Given the description of an element on the screen output the (x, y) to click on. 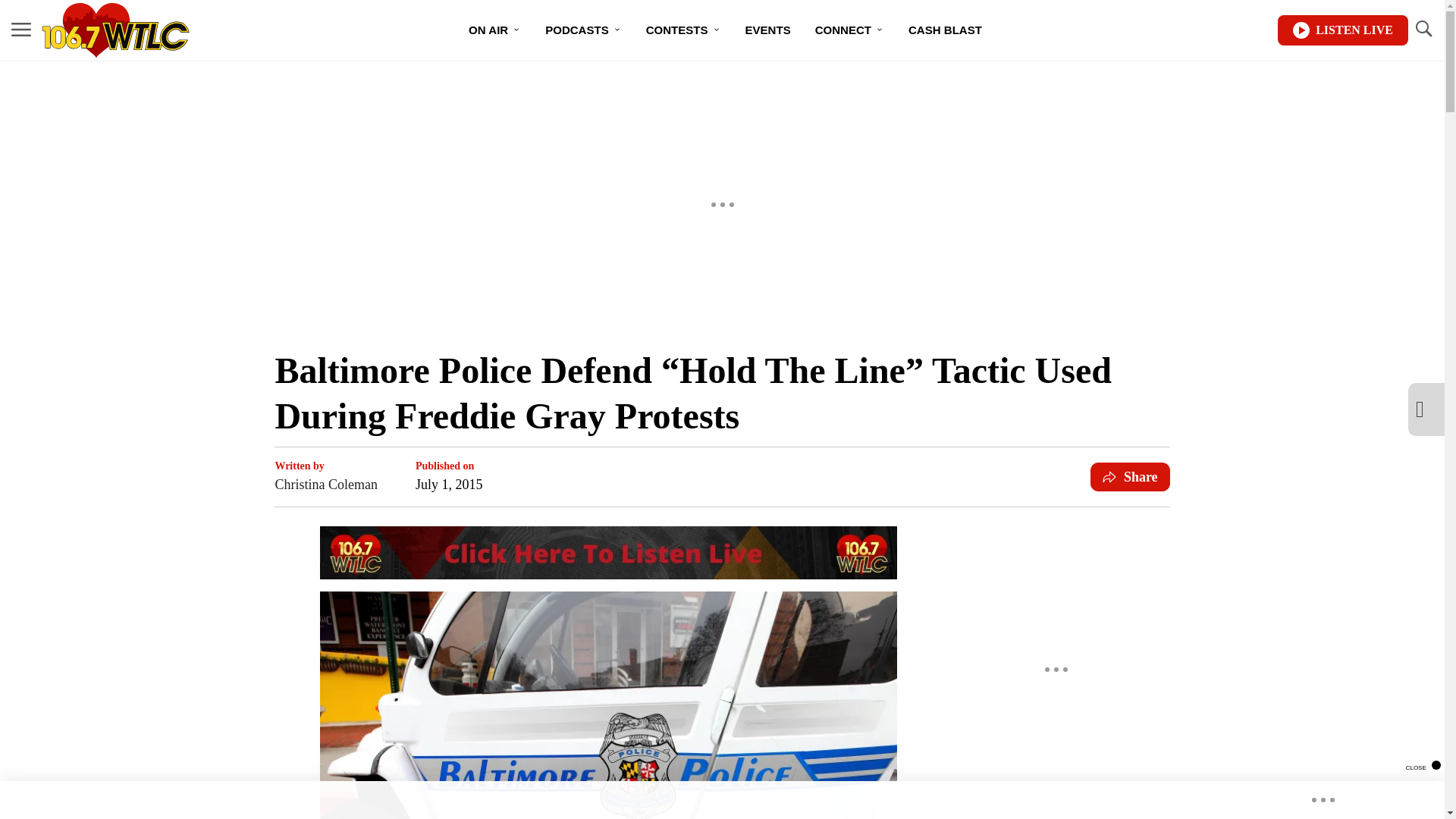
Share (1130, 476)
Christina Coleman (326, 484)
TOGGLE SEARCH (1422, 28)
CONNECT (849, 30)
MENU (20, 30)
CONTESTS (683, 30)
CASH BLAST (945, 30)
ON AIR (494, 30)
EVENTS (768, 30)
PODCASTS (582, 30)
